Given the description of an element on the screen output the (x, y) to click on. 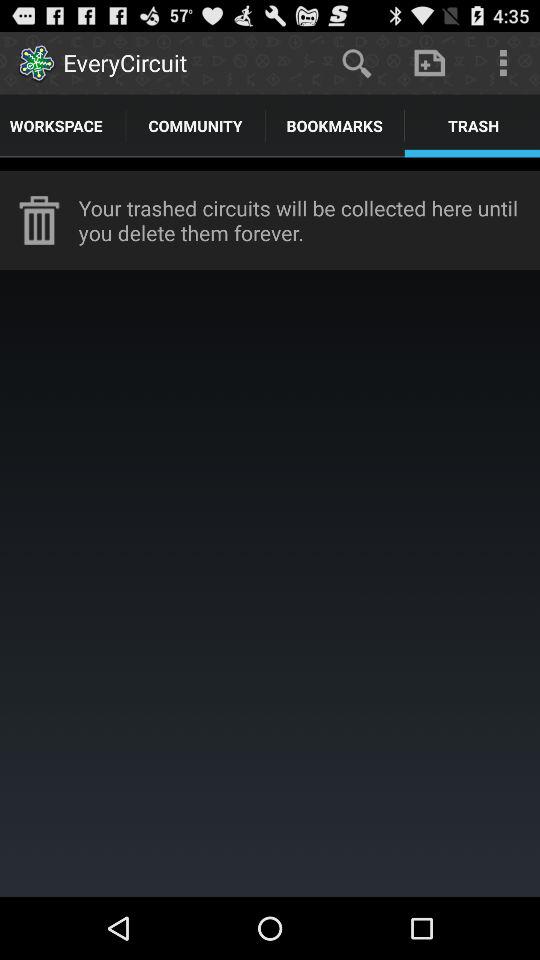
select the icon to the left of the your trashed circuits item (39, 220)
